Given the description of an element on the screen output the (x, y) to click on. 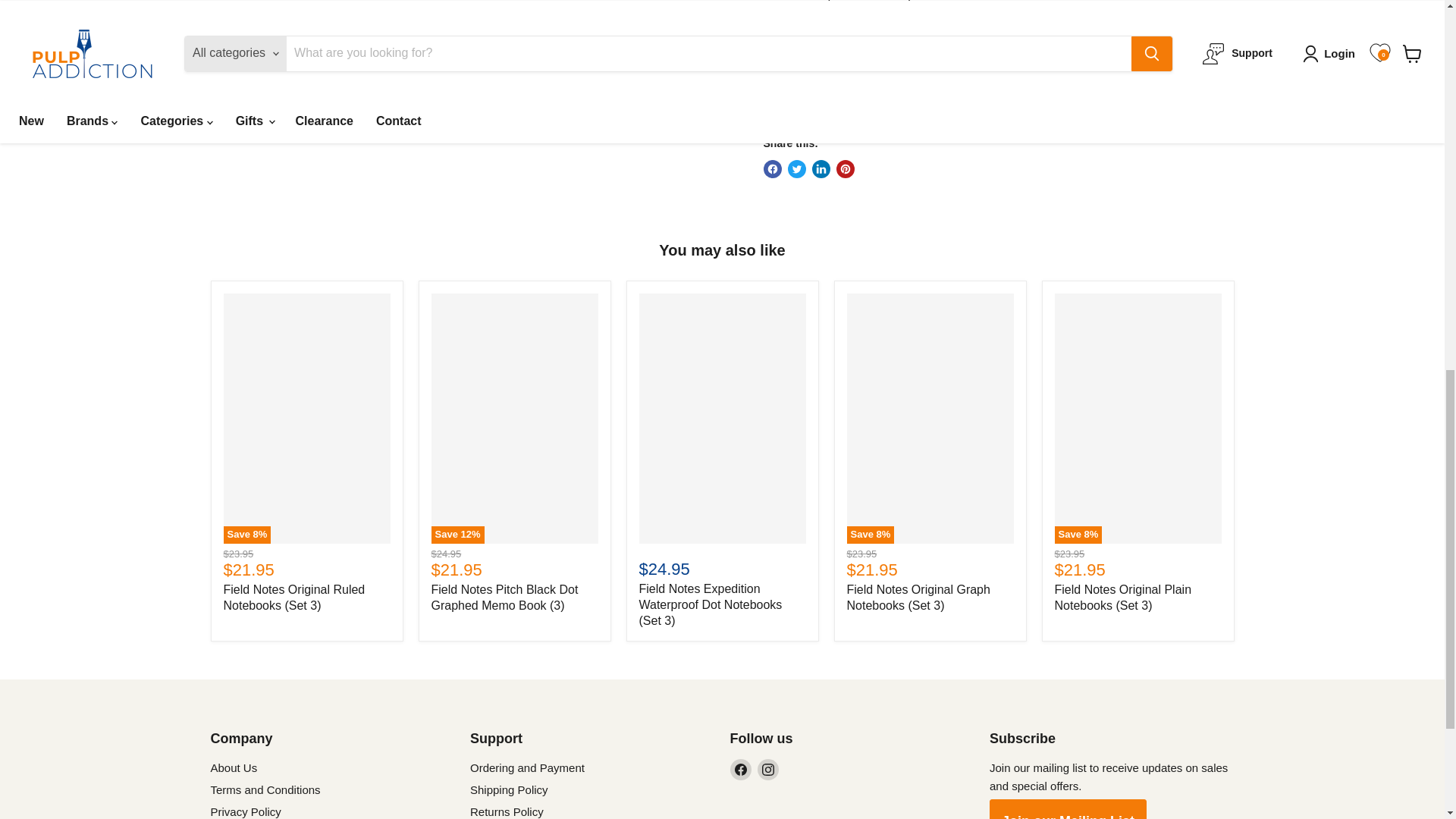
Instagram (767, 769)
Facebook (740, 769)
